Given the description of an element on the screen output the (x, y) to click on. 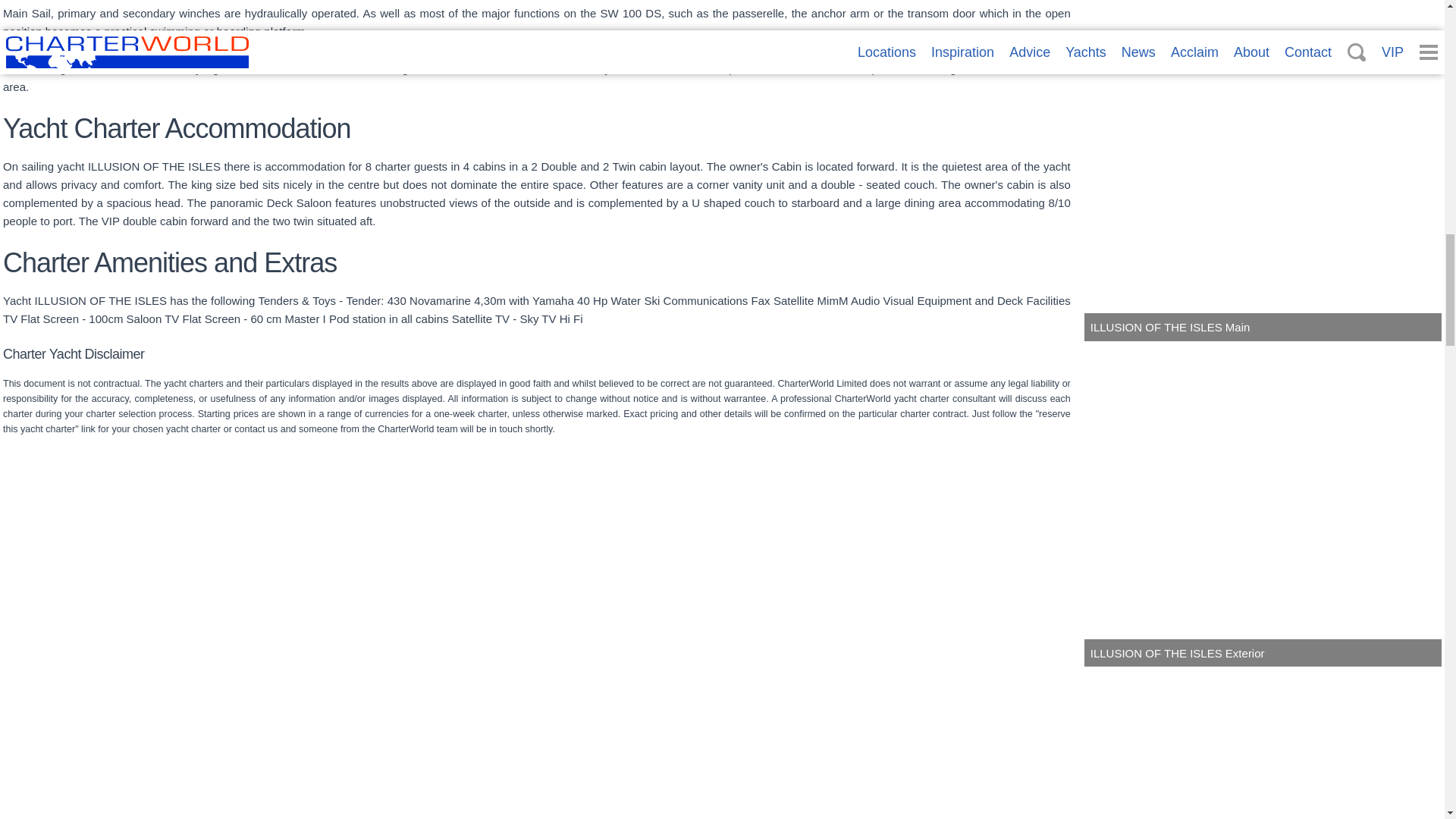
Side View (901, 744)
Outside (541, 744)
ILLUSION OF THE ISLES Main (1262, 179)
Outside (541, 744)
ILLUSION OF THE ISLES Main (1262, 179)
ILLUSION OF THE ISLES Exterior (1262, 504)
Exterior (180, 744)
ILLUSION OF THE ISLES Exterior (1262, 504)
Side View (901, 744)
Exterior (180, 744)
